Given the description of an element on the screen output the (x, y) to click on. 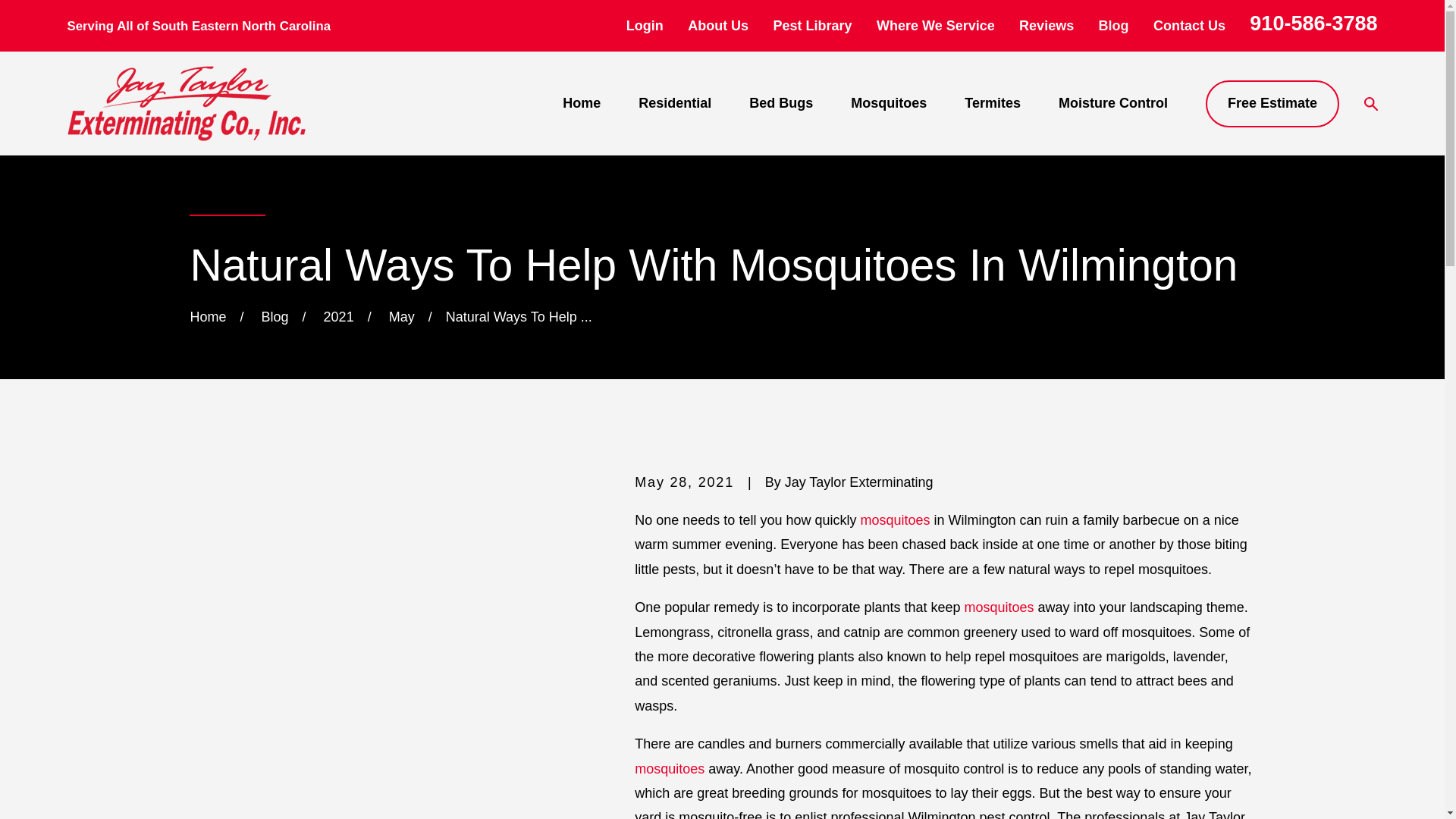
910-586-3788 (1313, 23)
Where We Service (935, 25)
Home (185, 103)
Residential (675, 103)
About Us (717, 25)
Mosquitoes (888, 103)
Pest Library (812, 25)
Blog (1114, 25)
Moisture Control (1112, 103)
Go Home (207, 316)
Contact Us (1189, 25)
Reviews (1046, 25)
Login (644, 25)
